Given the description of an element on the screen output the (x, y) to click on. 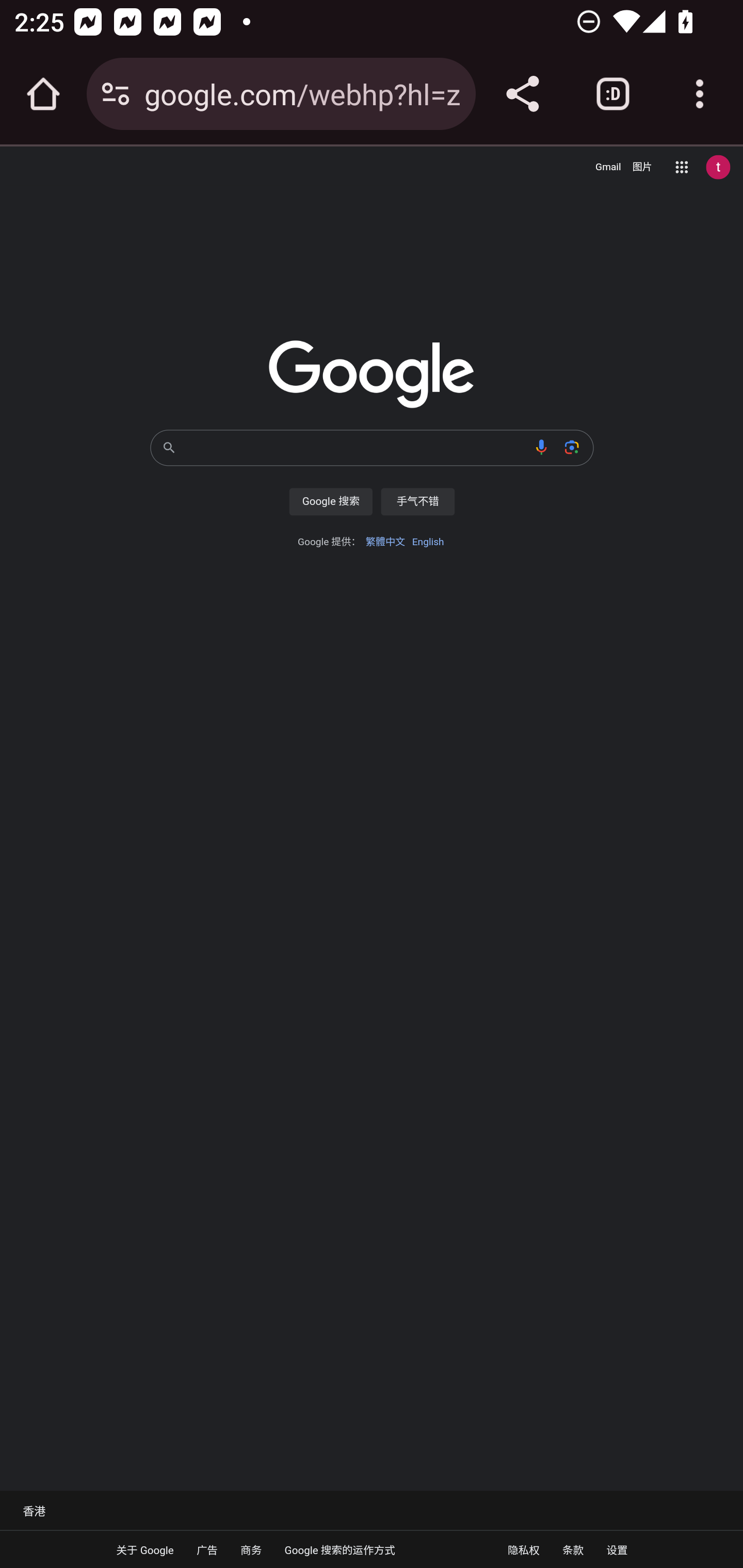
Open the home page (43, 93)
Connection is secure (115, 93)
Share (522, 93)
Switch or close tabs (612, 93)
Customize and control Google Chrome (699, 93)
Google 应用 (681, 167)
Google 账号： test appium (testappium002@gmail.com) (718, 167)
Gmail （打开新标签页） Gmail (608, 166)
搜索图片 （打开新标签页） 图片 (641, 166)
按语音搜索 (541, 446)
按图搜索 (571, 446)
Google 搜索 (330, 501)
 手气不错  (417, 501)
繁體中文 (384, 541)
English (427, 541)
关于 Google (144, 1549)
广告 (206, 1549)
商务 (251, 1549)
Google 搜索的运作方式 (339, 1549)
隐私权 (523, 1549)
条款 (572, 1549)
设置 (616, 1549)
